Given the description of an element on the screen output the (x, y) to click on. 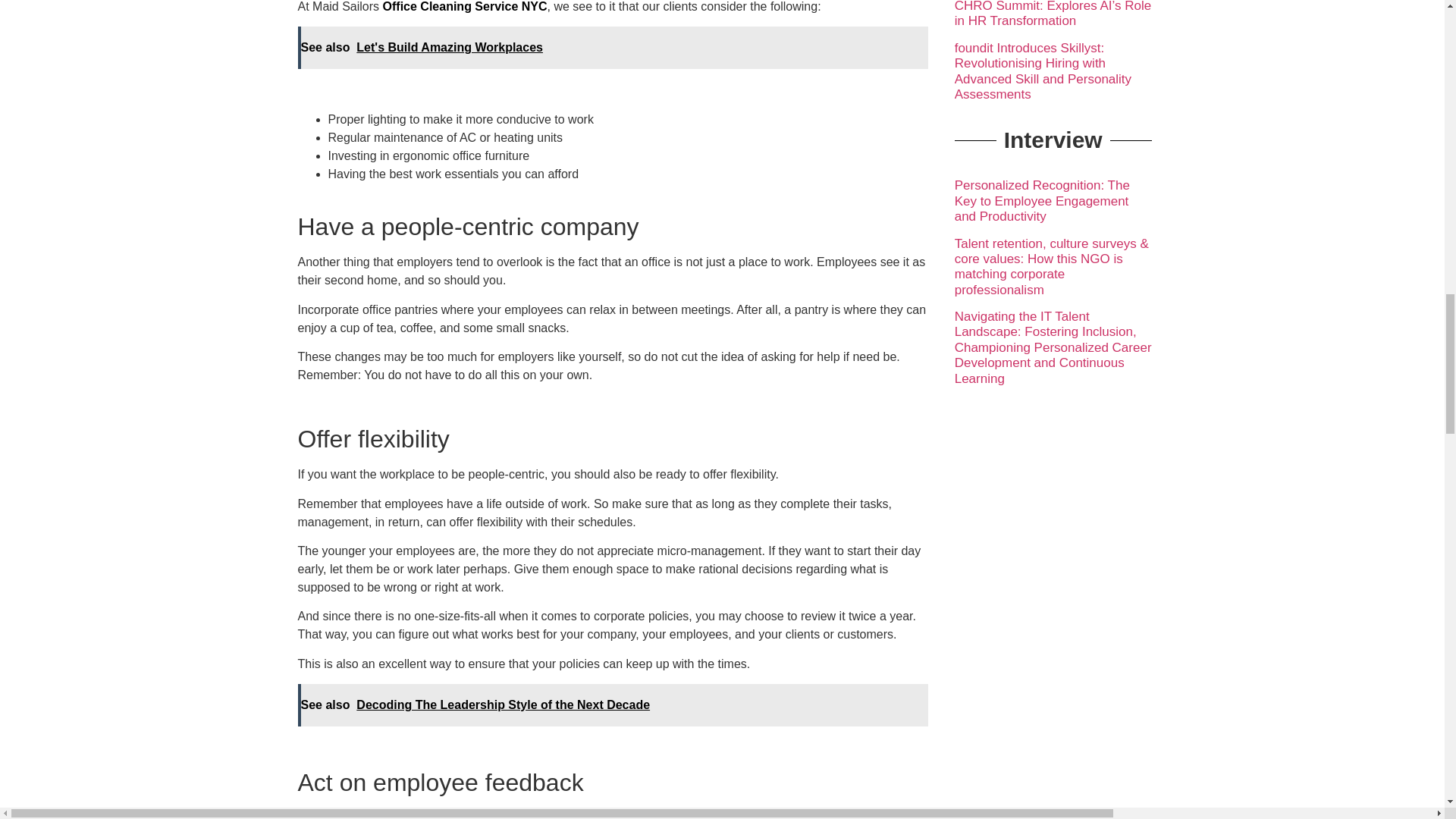
Office Cleaning Service NYC (464, 6)
See also  Let's Build Amazing Workplaces (612, 47)
See also  Decoding The Leadership Style of the Next Decade (612, 704)
